Given the description of an element on the screen output the (x, y) to click on. 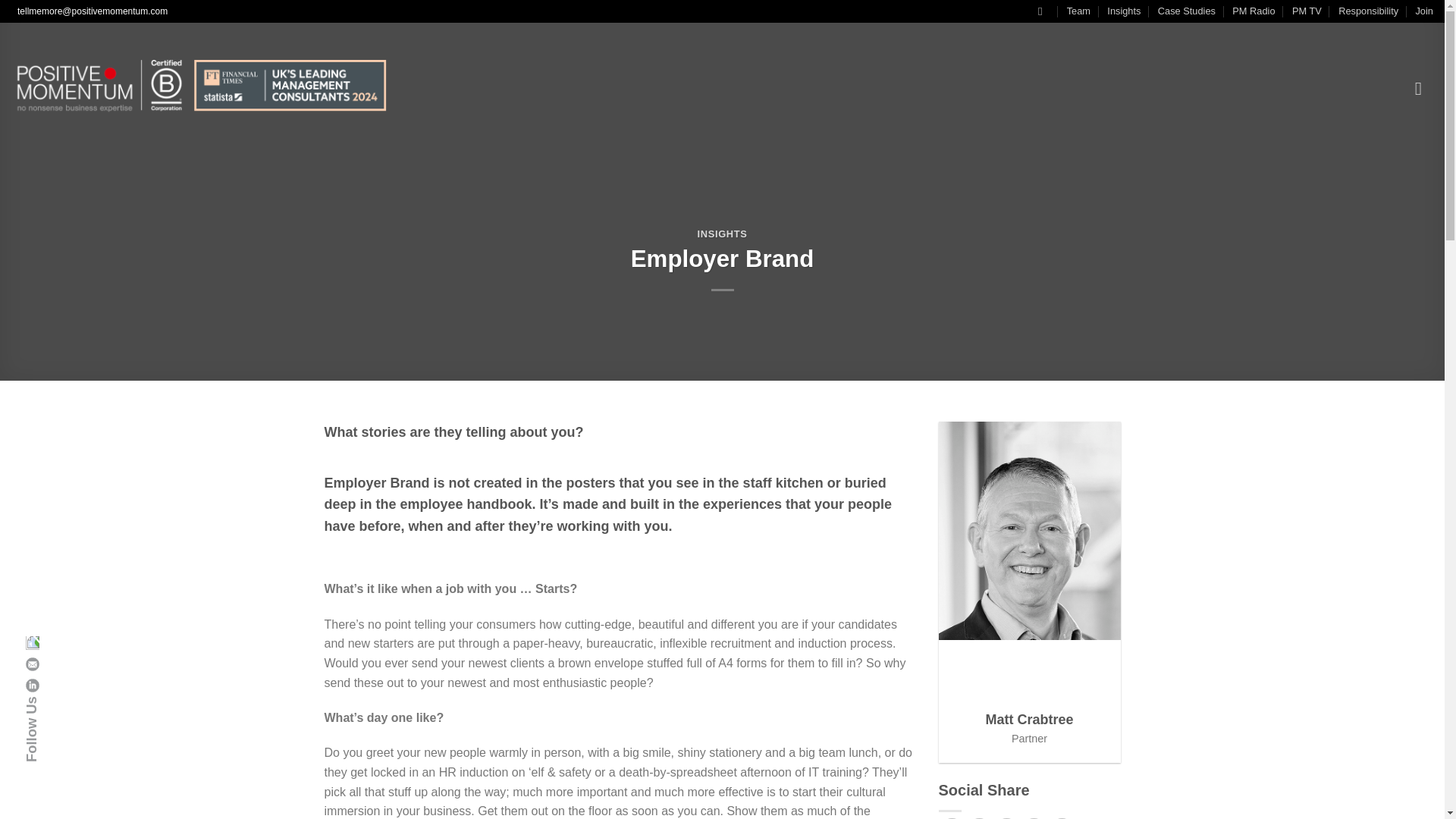
Positive Momentum - No Nonsense Business Expertise (199, 88)
Case Studies (1186, 11)
PM TV (1307, 11)
INSIGHTS (722, 233)
Team (1078, 11)
Responsibility (1367, 11)
Insights (1123, 11)
